Given the description of an element on the screen output the (x, y) to click on. 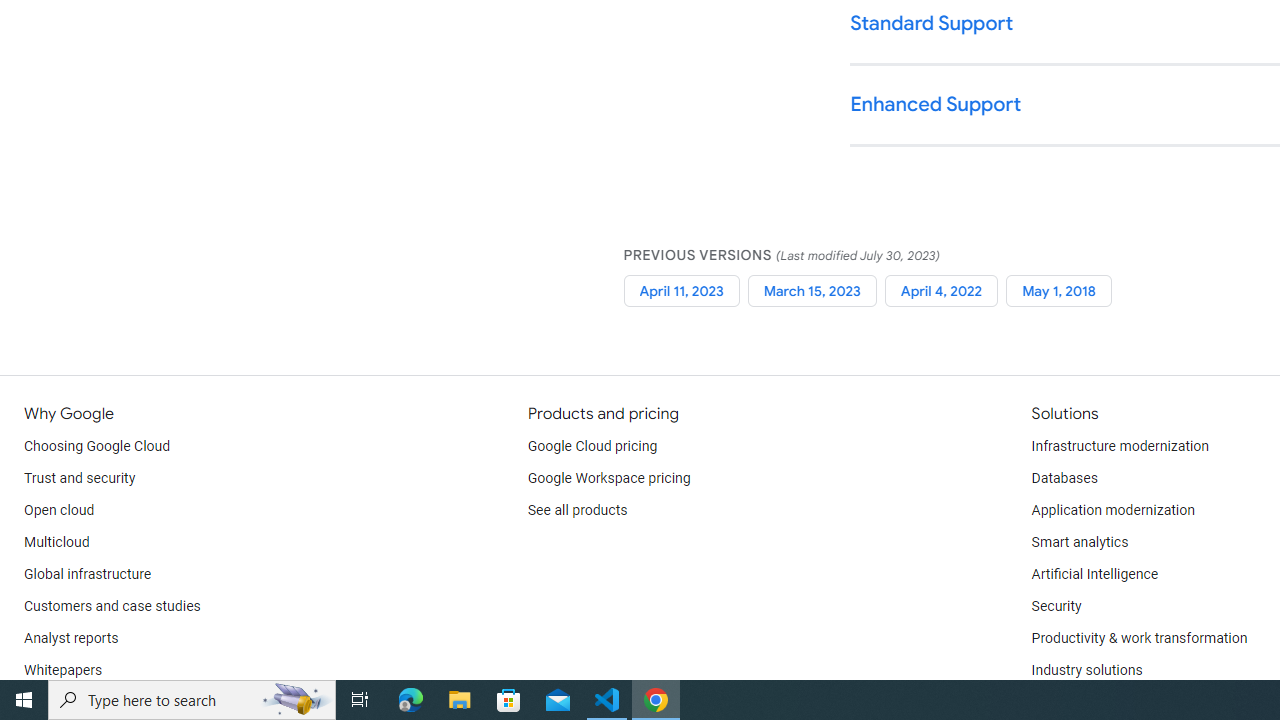
Open cloud (59, 511)
Global infrastructure (88, 574)
March 15, 2023 (811, 290)
Productivity & work transformation (1139, 638)
Choosing Google Cloud (97, 446)
Infrastructure modernization (1119, 446)
May 1, 2018 (1059, 290)
Whitepapers (63, 670)
